Given the description of an element on the screen output the (x, y) to click on. 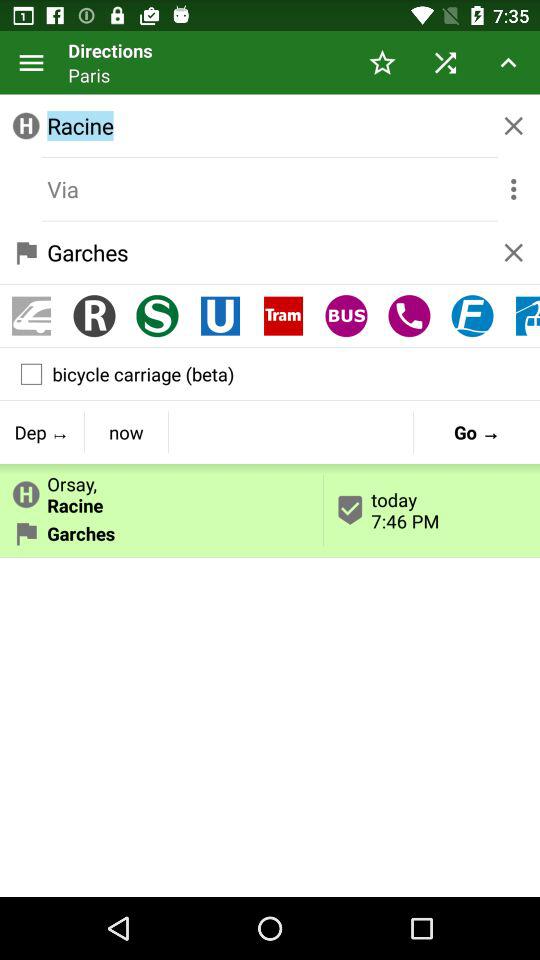
turn off the checkbox above the bicycle carriage (beta) checkbox (220, 315)
